Given the description of an element on the screen output the (x, y) to click on. 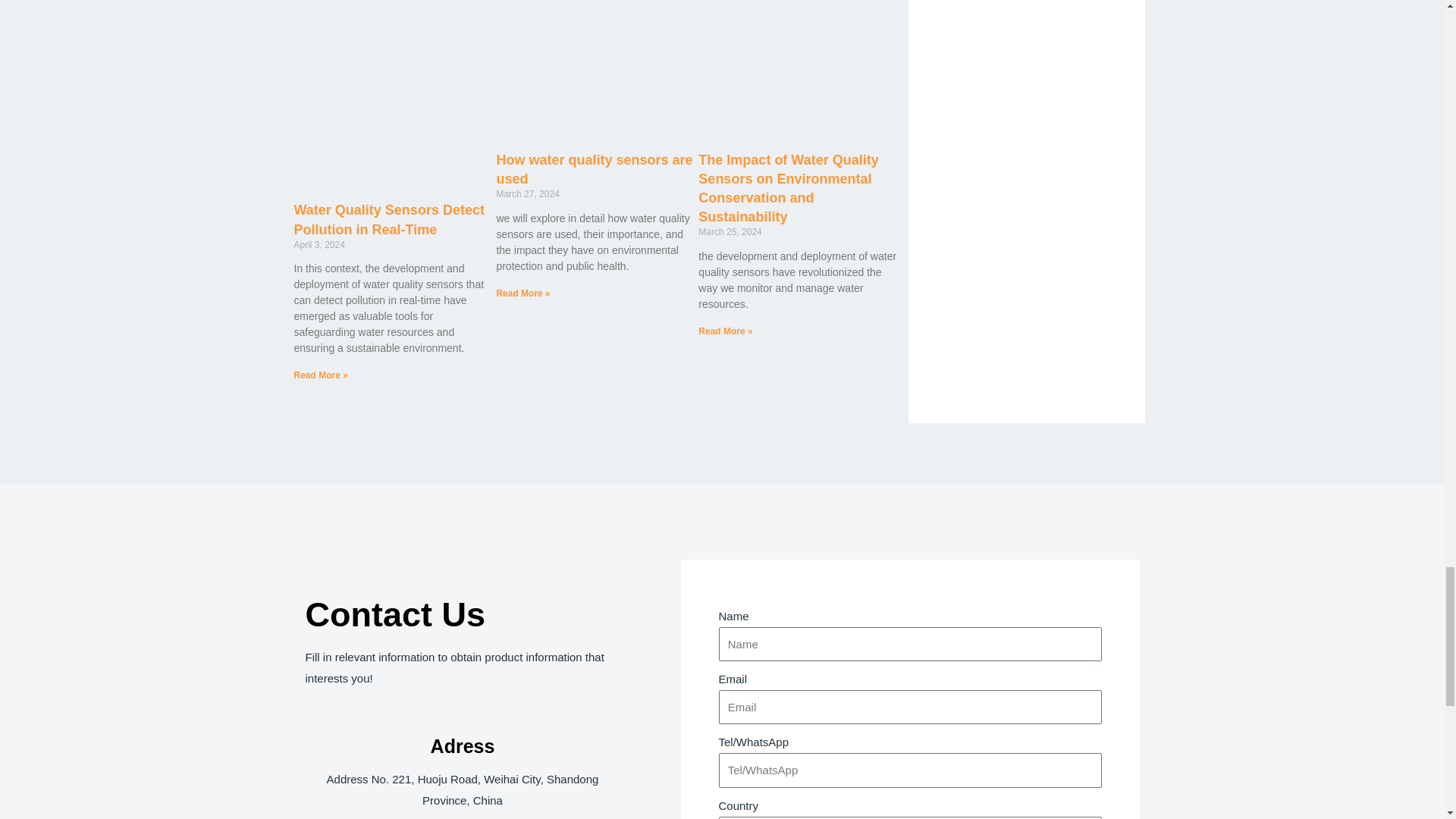
How water quality sensors are used (594, 169)
Water Quality Sensors Detect Pollution in Real-Time (389, 219)
